Given the description of an element on the screen output the (x, y) to click on. 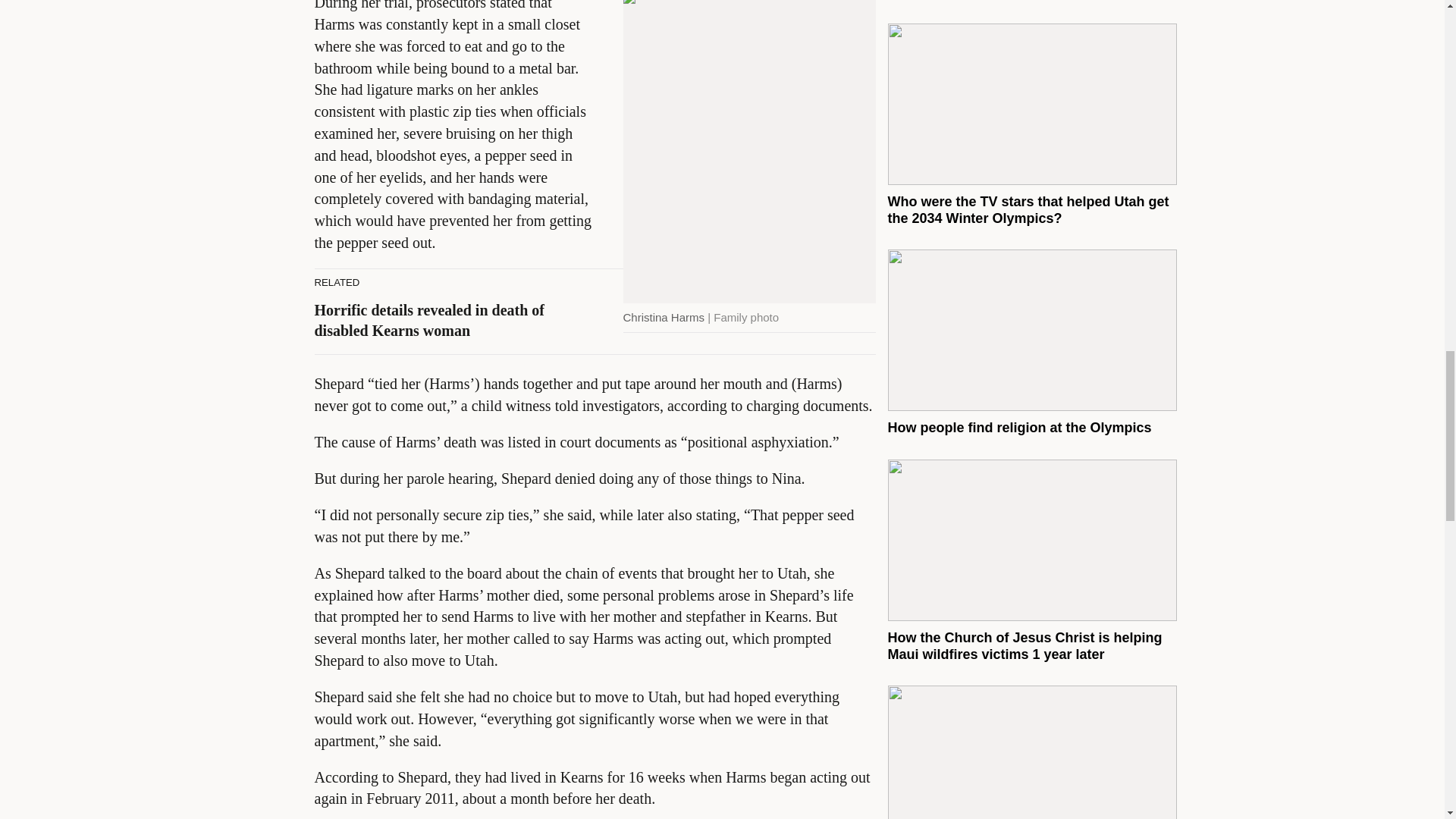
Horrific details revealed in death of disabled Kearns woman (428, 320)
